Given the description of an element on the screen output the (x, y) to click on. 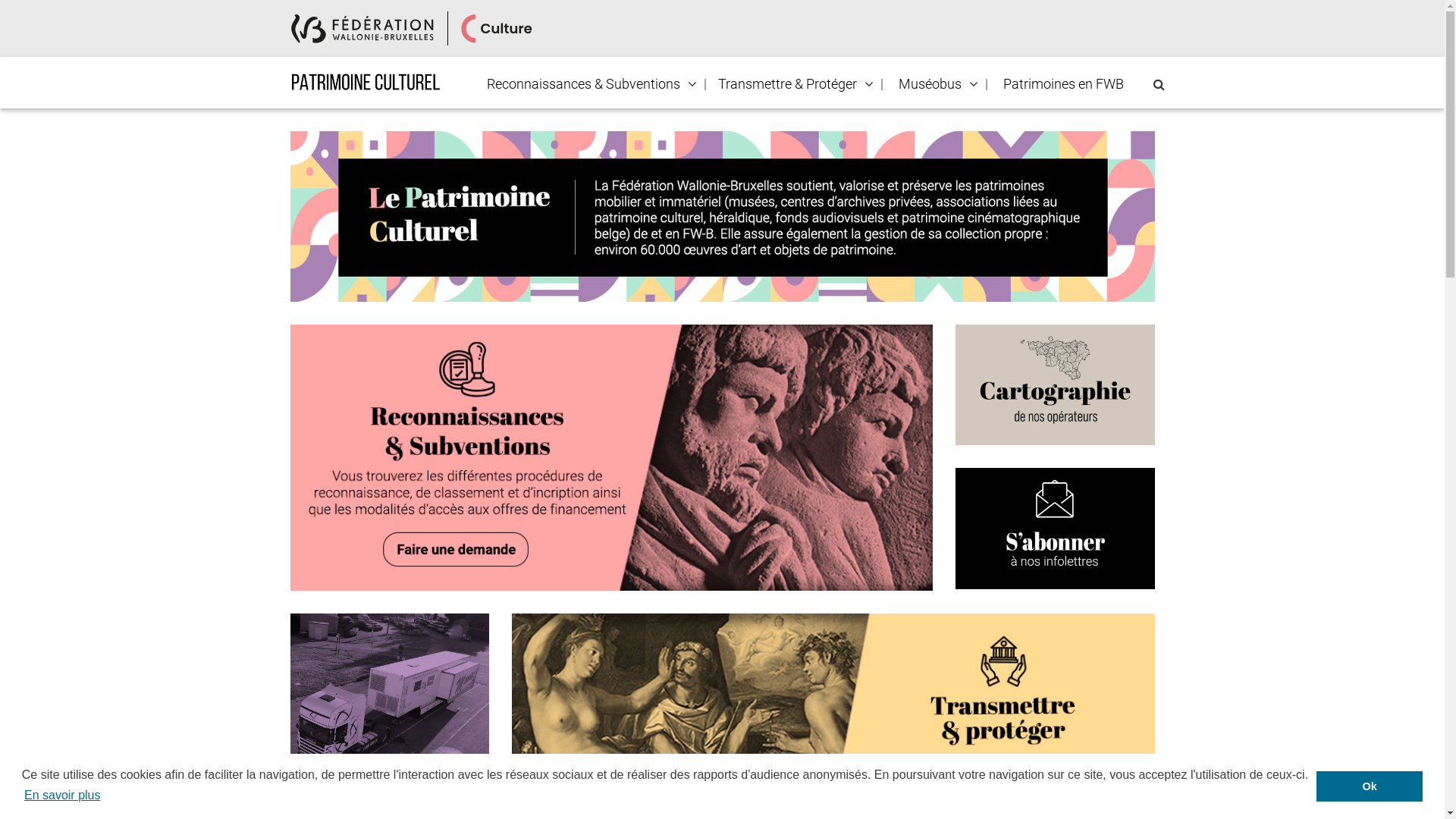
Reconnaissances & Subventions Element type: text (582, 84)
Ok Element type: text (1369, 786)
Rechercher sur le site Element type: text (1158, 84)
Patrimoines en FWB Element type: text (1063, 84)
En savoir plus Element type: text (62, 795)
Recherche Element type: text (5, 11)
